Given the description of an element on the screen output the (x, y) to click on. 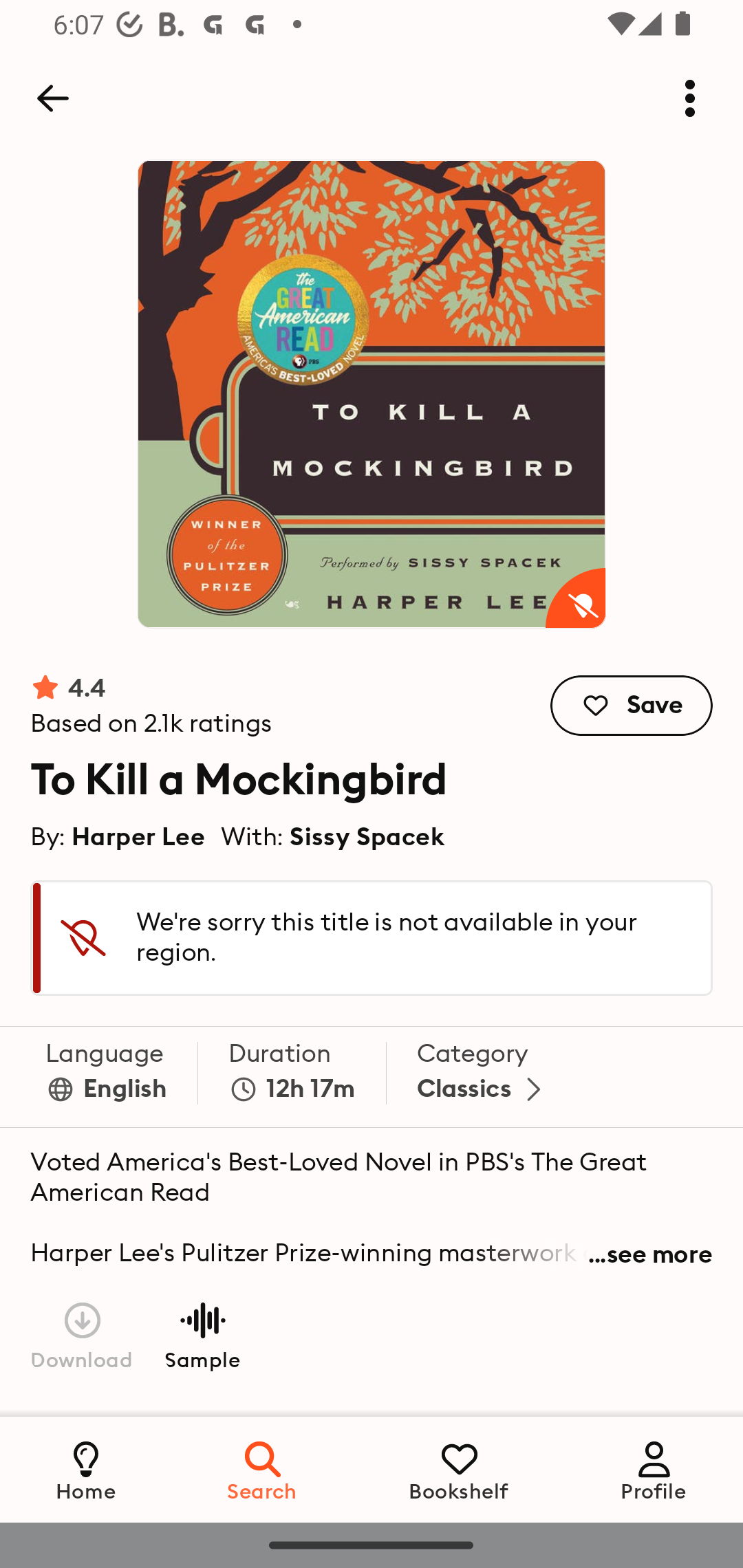
Back (52, 98)
More options (689, 98)
Rating 4.4 stars, out of 2130 ratings (151, 705)
Save Save to bookshelf (631, 705)
By: Harper Lee (117, 835)
With: Sissy Spacek (332, 835)
Category Classics (483, 1077)
Play sample (202, 1333)
Home (85, 1468)
Search (262, 1468)
Bookshelf (458, 1468)
Profile (653, 1468)
